Given the description of an element on the screen output the (x, y) to click on. 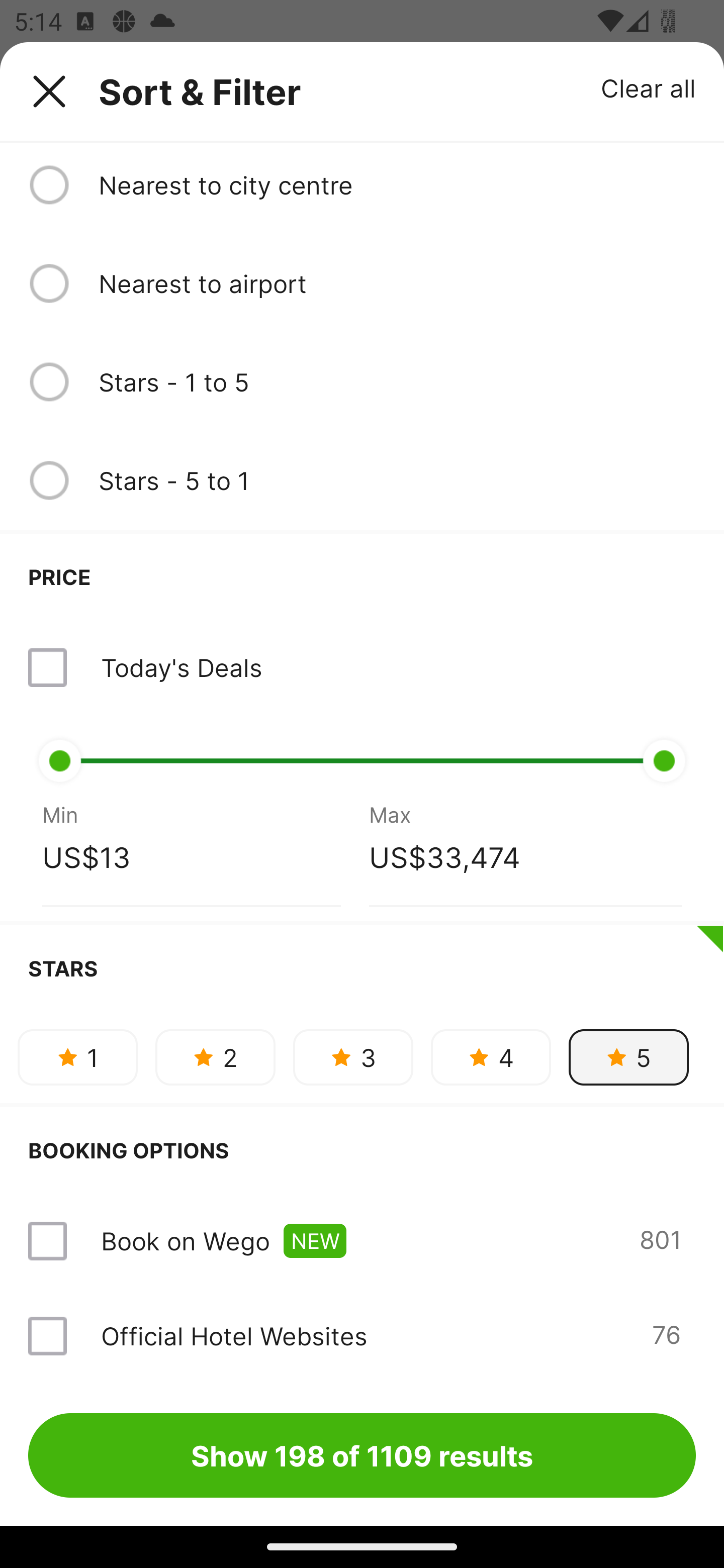
Clear all (648, 87)
Nearest to city centre (396, 184)
Nearest to airport (396, 283)
Stars - 1 to 5 (396, 381)
Stars - 5 to 1 (396, 480)
Today's Deals (362, 667)
Today's Deals (181, 667)
1 (77, 1056)
2 (214, 1056)
3 (352, 1056)
4 (491, 1056)
5 (627, 1056)
Book on Wego NEW 801 (362, 1240)
Book on Wego (184, 1241)
Official Hotel Websites 76 (362, 1335)
Official Hotel Websites (233, 1335)
Show 198 of 1109 results (361, 1454)
